Given the description of an element on the screen output the (x, y) to click on. 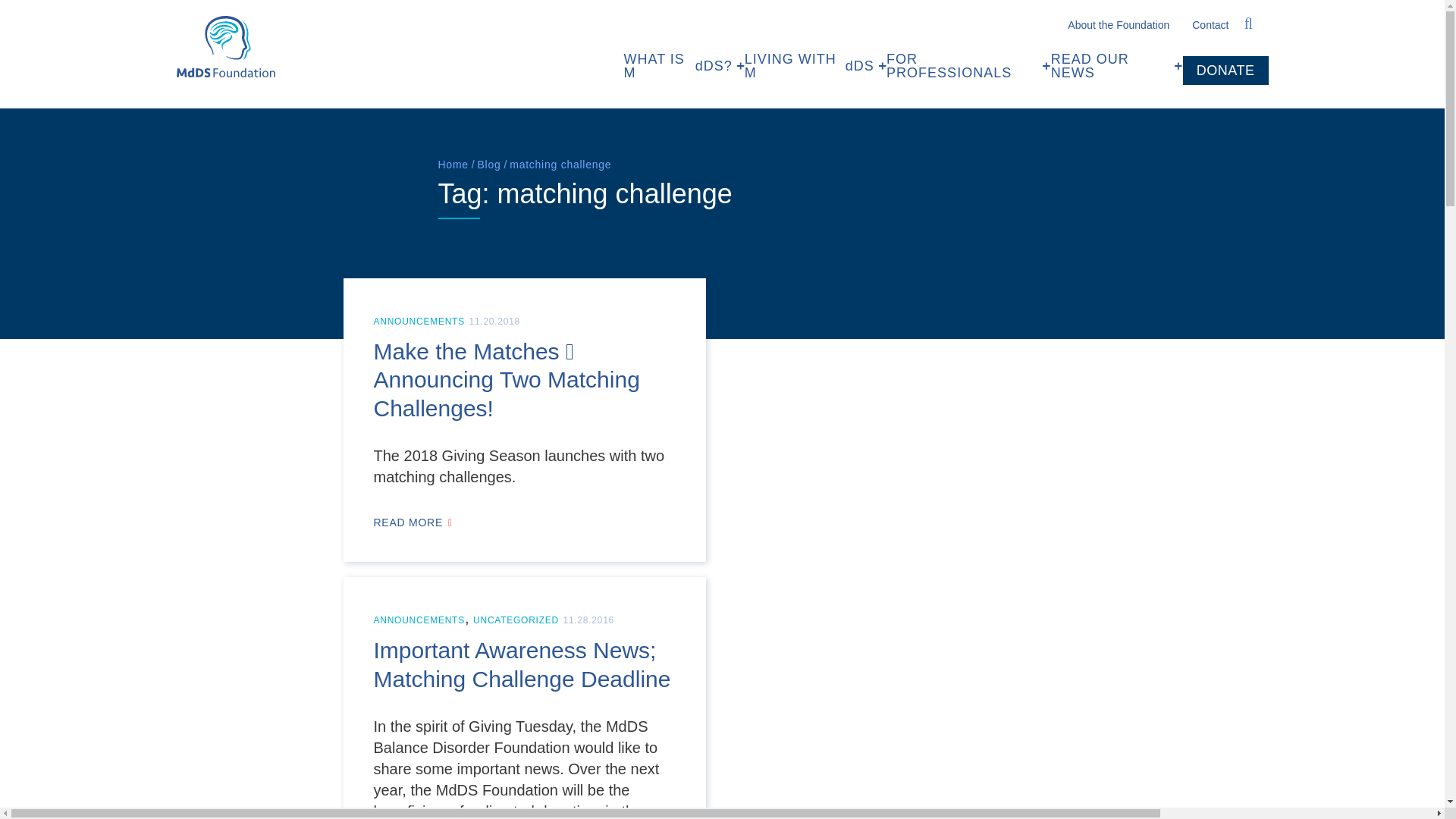
SEARCH (1248, 23)
About the Foundation (1118, 24)
Go to Blog. (488, 164)
FOR PROFESSIONALS  (968, 65)
DONATE (1225, 70)
READ OUR NEWS  (1116, 65)
Contact (1210, 24)
MdDS Foundation (683, 65)
Go to MdDS Foundation. (815, 65)
Go to the matching challenge tag archives. (225, 46)
